Given the description of an element on the screen output the (x, y) to click on. 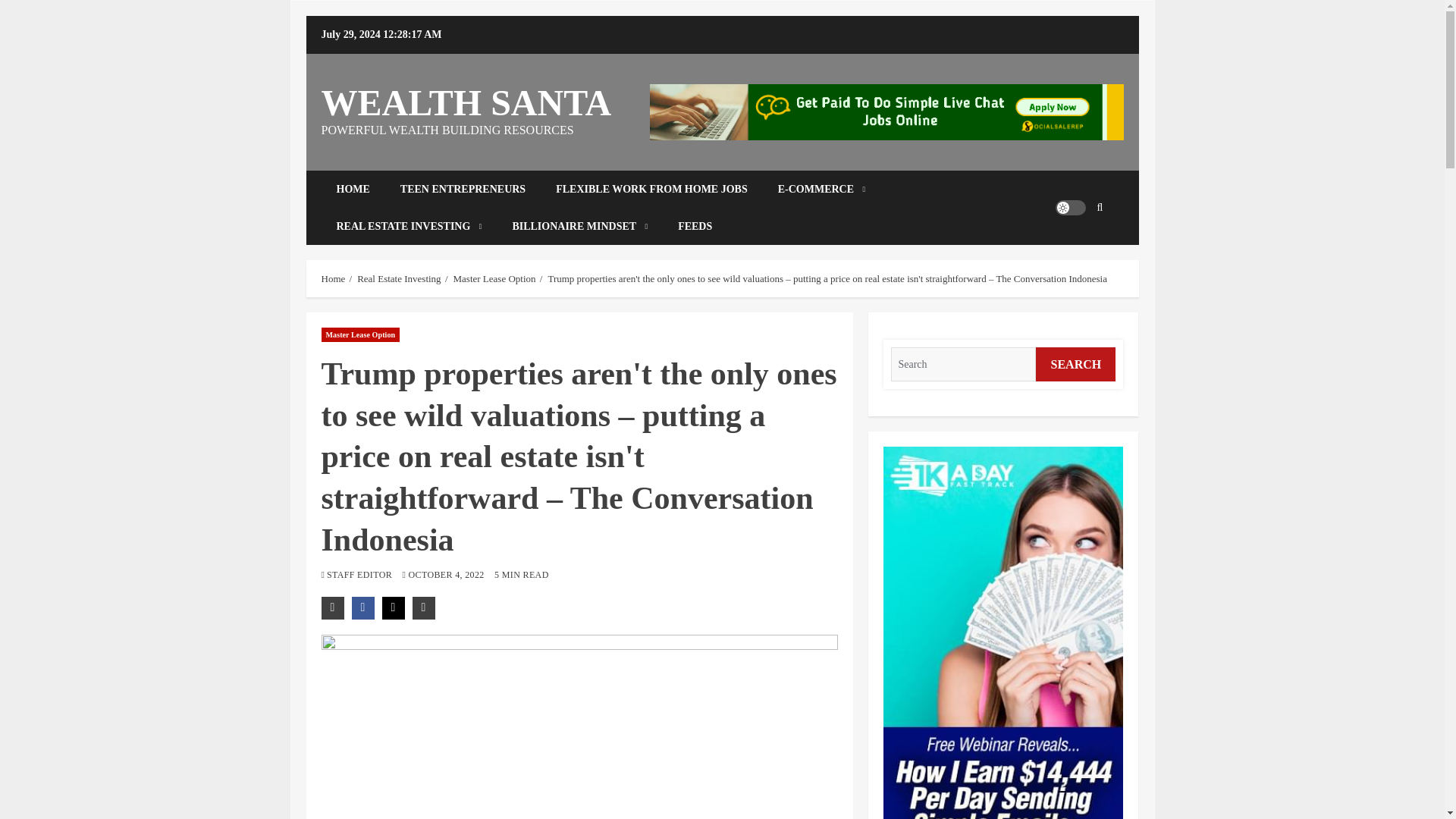
TEEN ENTREPRENEURS (462, 189)
HOME (353, 189)
REAL ESTATE INVESTING (409, 226)
WEALTH SANTA (466, 102)
BILLIONAIRE MINDSET (579, 226)
Home (333, 278)
FEEDS (694, 226)
FLEXIBLE WORK FROM HOME JOBS (651, 189)
Master Lease Option (360, 334)
Search (1076, 253)
Real Estate Investing (398, 278)
STAFF EDITOR (360, 574)
Master Lease Option (493, 278)
E-COMMERCE (821, 189)
